Given the description of an element on the screen output the (x, y) to click on. 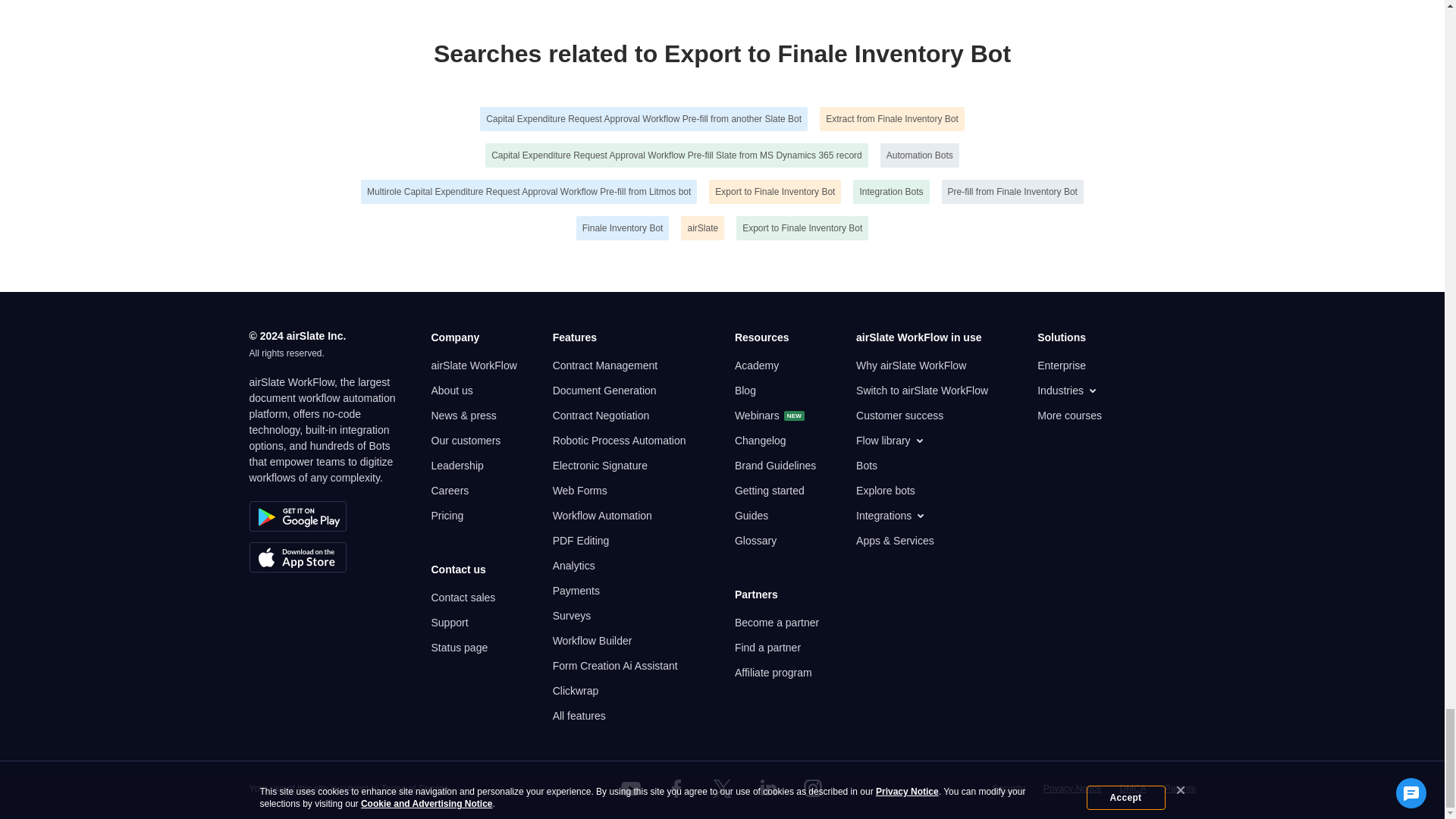
Instagram (812, 788)
LinkedIn (767, 788)
Twitter (721, 788)
Facebook (676, 788)
YouTube (630, 788)
